Given the description of an element on the screen output the (x, y) to click on. 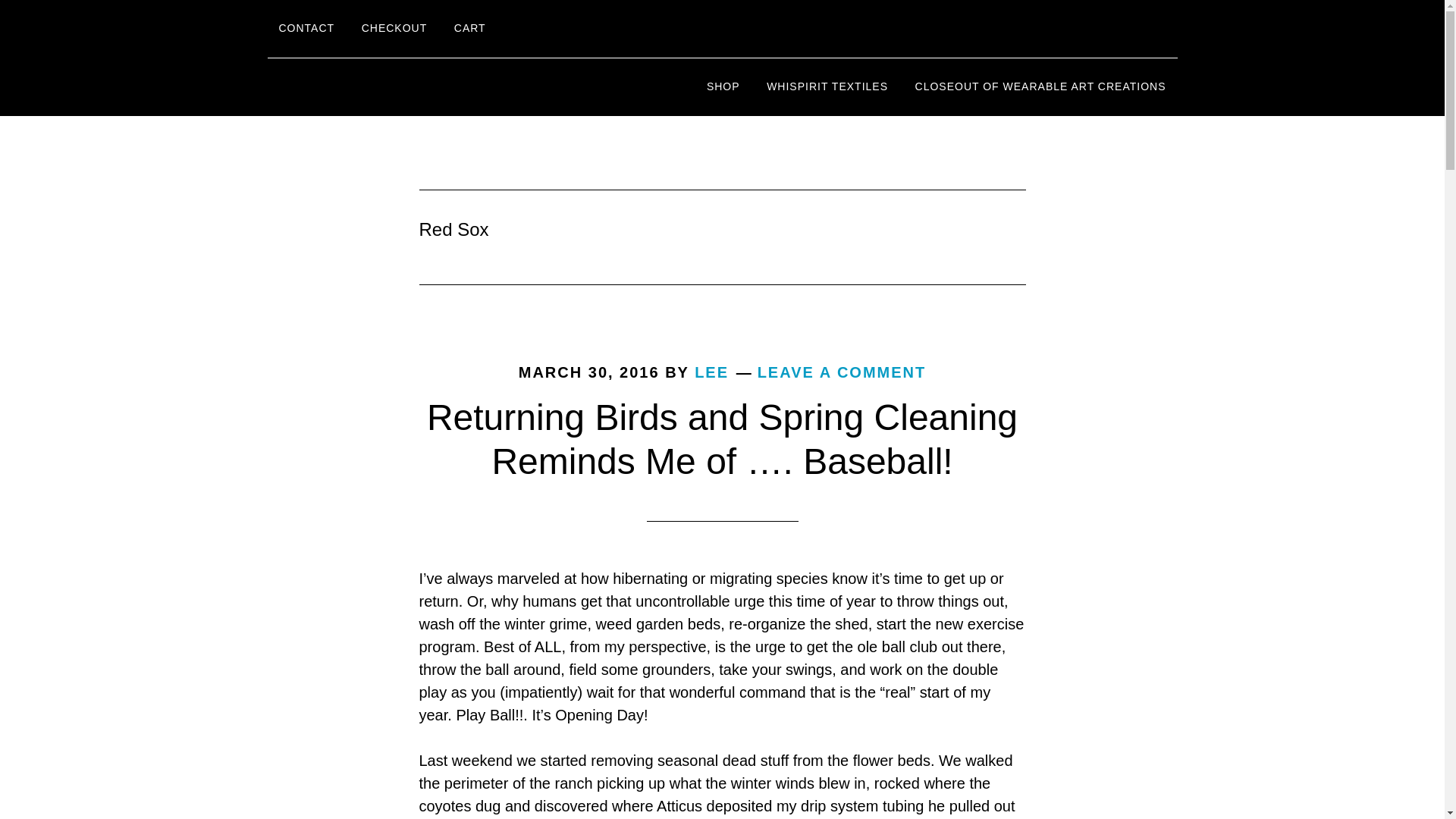
CONTACT (306, 28)
LEAVE A COMMENT (841, 371)
SHOP (723, 87)
CART (469, 28)
CLOSEOUT OF WEARABLE ART CREATIONS (1040, 87)
CHECKOUT (394, 28)
WHISPIRIT (403, 87)
WHISPIRIT TEXTILES (827, 87)
LEE (711, 371)
